Given the description of an element on the screen output the (x, y) to click on. 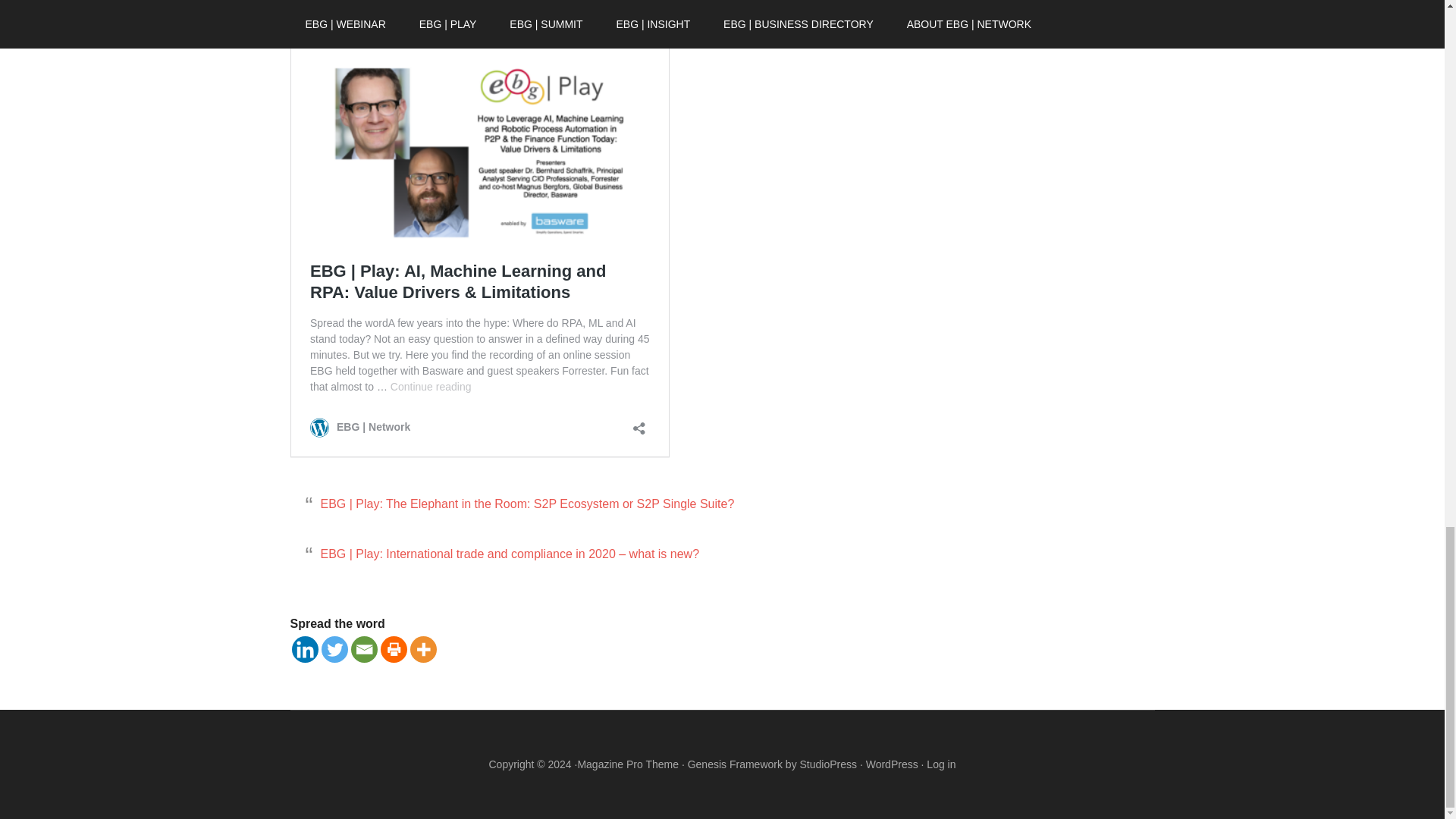
Linkedin (304, 649)
Print (393, 649)
More (422, 649)
Basware (570, 4)
Twitter (334, 649)
Email (363, 649)
